Given the description of an element on the screen output the (x, y) to click on. 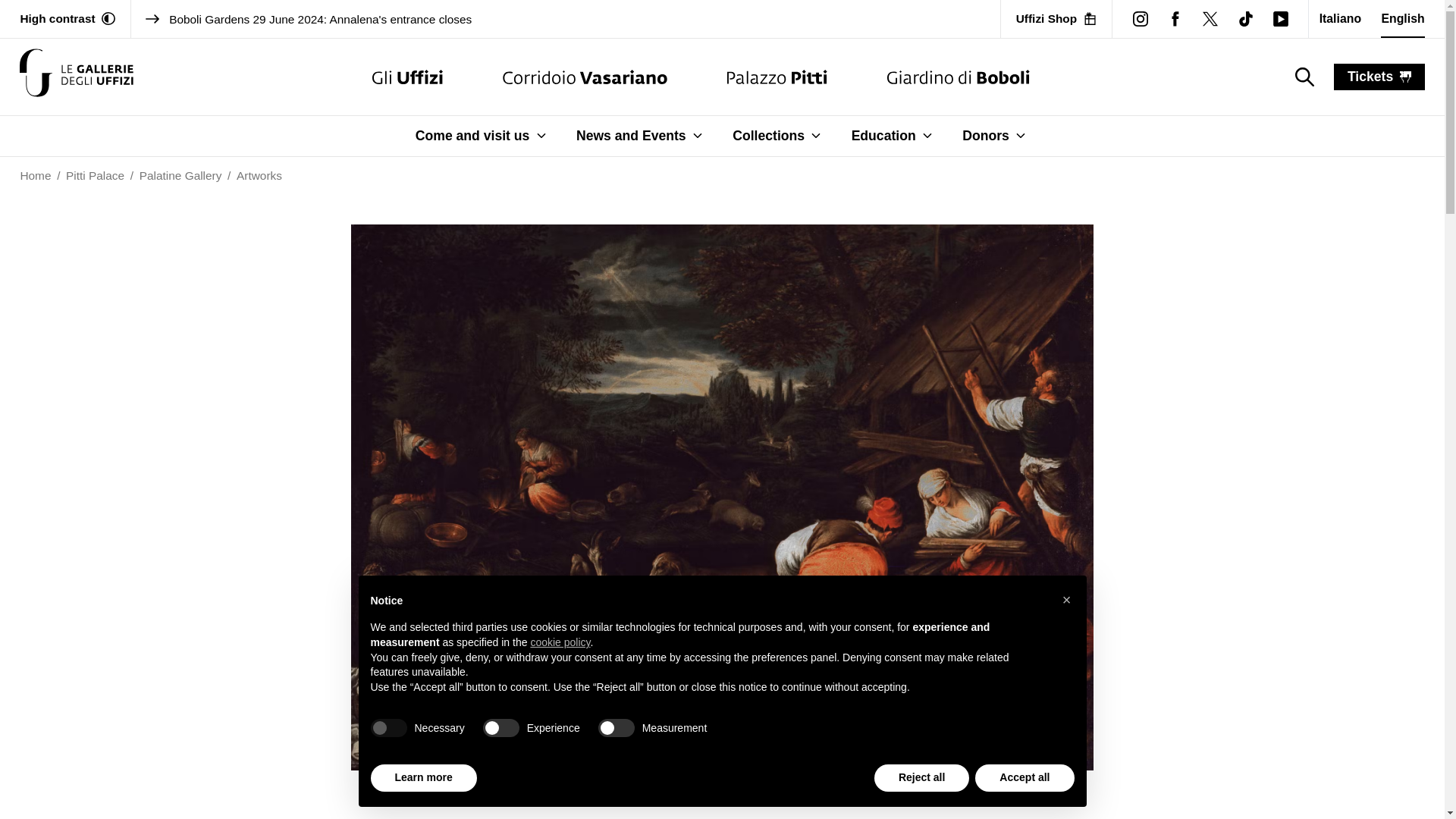
The Uffizi (407, 76)
instagram (1139, 18)
Accept all (1024, 777)
Tickets (1378, 76)
Italiano (1340, 18)
twitter (1209, 18)
Home (35, 175)
Pitti Palace (776, 76)
tiktok (1245, 18)
cookie policy (559, 642)
